Given the description of an element on the screen output the (x, y) to click on. 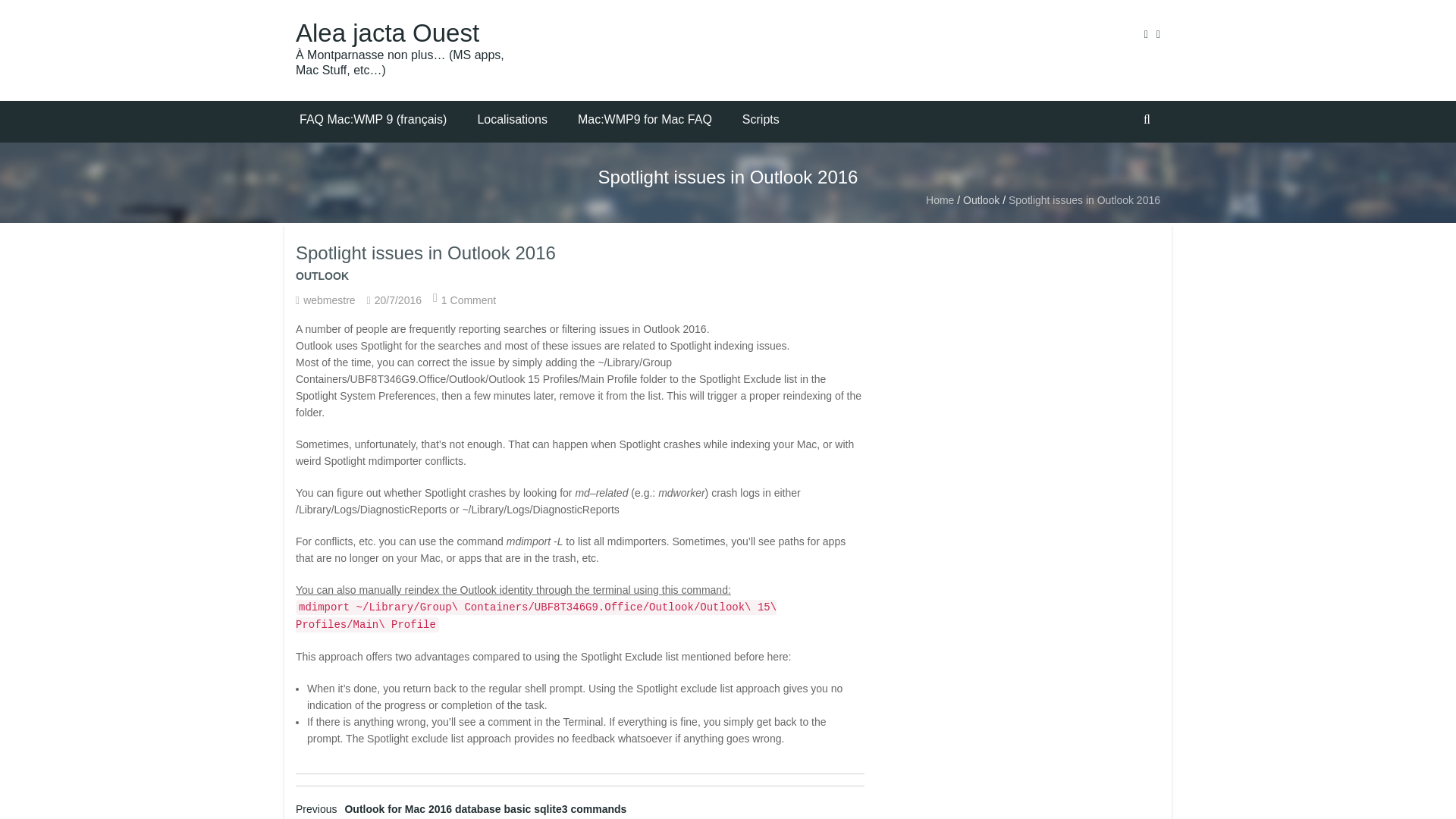
Scripts (760, 121)
Home (939, 200)
Outlook (980, 200)
PreviousOutlook for Mac 2016 database basic sqlite3 commands (460, 808)
OUTLOOK (322, 279)
Localisations (511, 121)
Permalink to Spotlight issues in Outlook 2016 (398, 300)
Mac:WMP9 for Mac FAQ (644, 121)
View all posts by webmestre (328, 300)
1 Comment (468, 300)
